Given the description of an element on the screen output the (x, y) to click on. 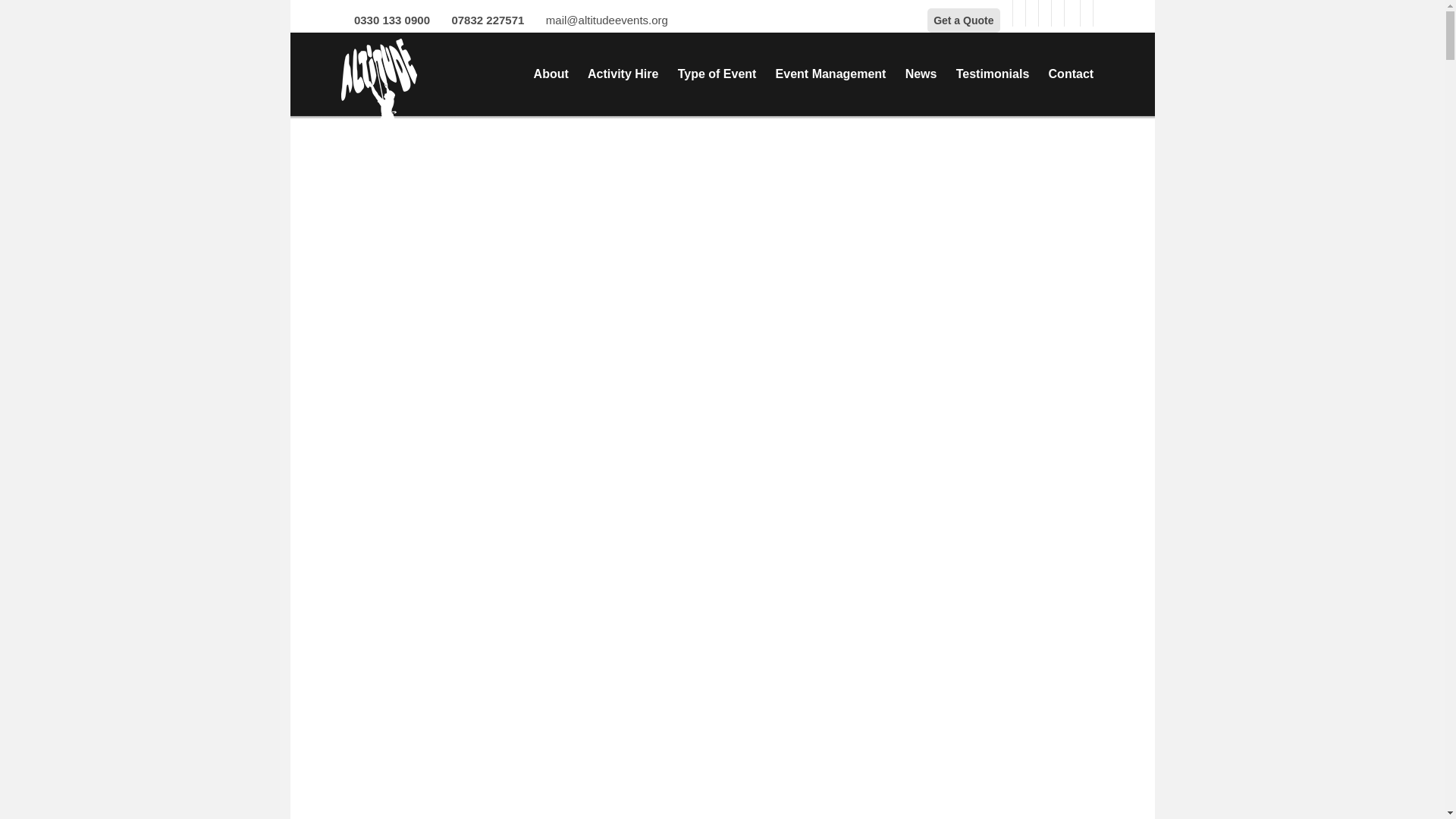
Type of Event (717, 76)
Altitude Events (378, 87)
About (551, 76)
Activity Hire (623, 76)
0330 133 0900 (389, 19)
07832 227571 (485, 19)
